Given the description of an element on the screen output the (x, y) to click on. 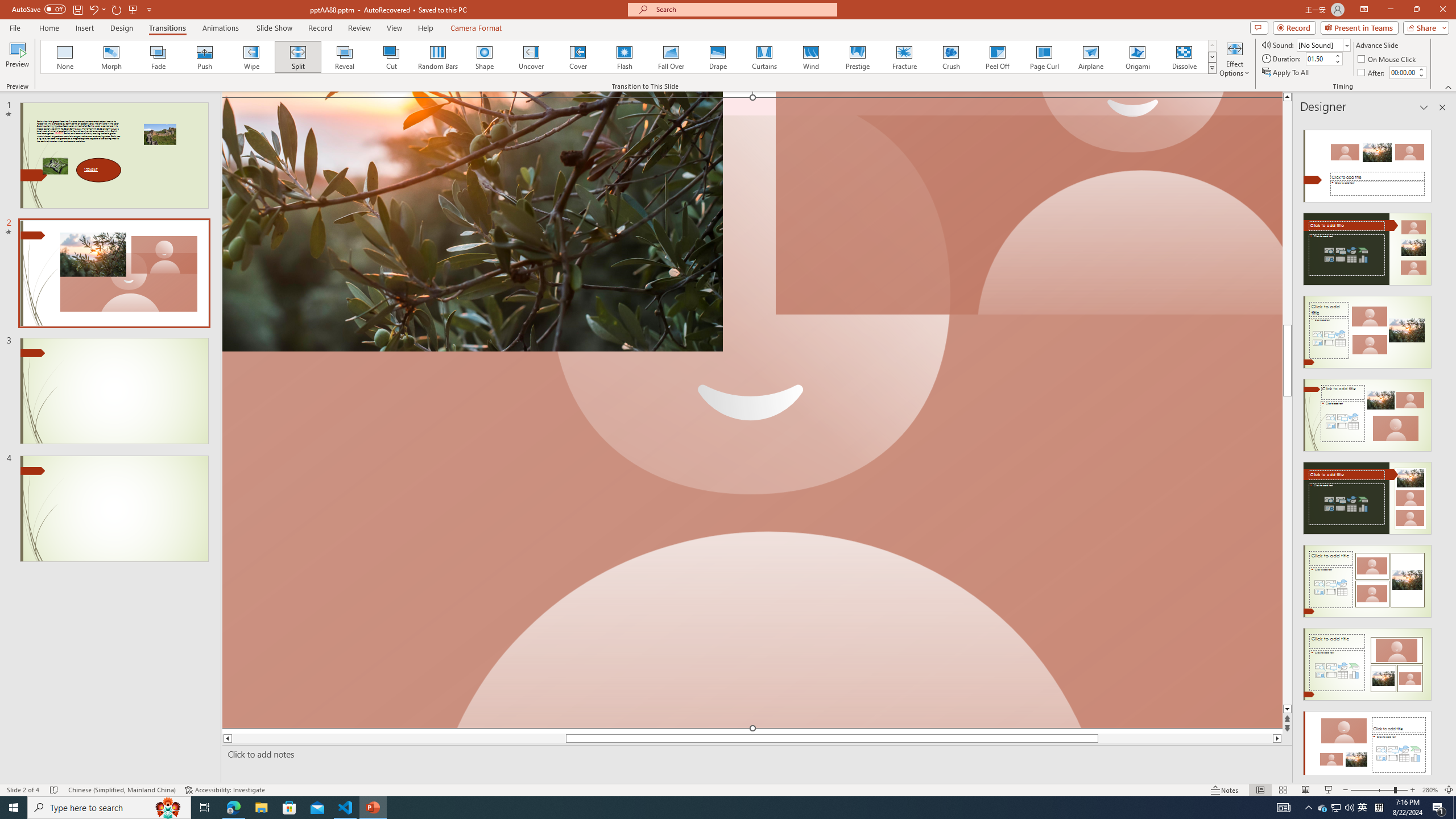
Wind (810, 56)
Line up (1287, 96)
Crush (950, 56)
Shape (484, 56)
Uncover (531, 56)
